Given the description of an element on the screen output the (x, y) to click on. 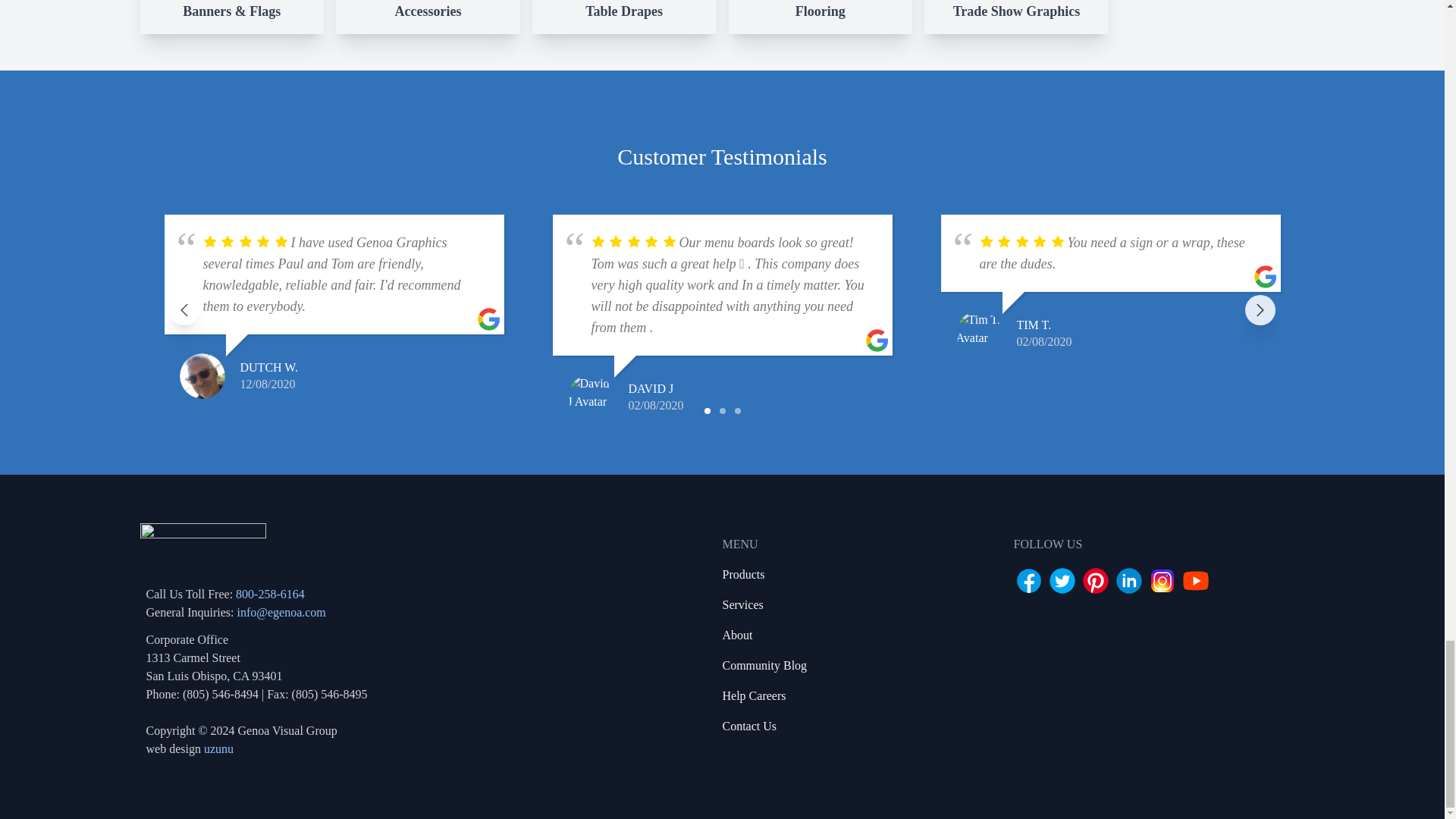
Table Drapes (624, 17)
Trade Show Graphics (1016, 17)
Follow on Youtube (1194, 580)
Follow on Instagram (1161, 580)
Follow on LinkedIn (1127, 580)
Accessories (427, 17)
Follow on Twitter (1061, 580)
Follow on Facebook (1028, 580)
Flooring (820, 17)
Follow on Pinterest (1094, 580)
